Given the description of an element on the screen output the (x, y) to click on. 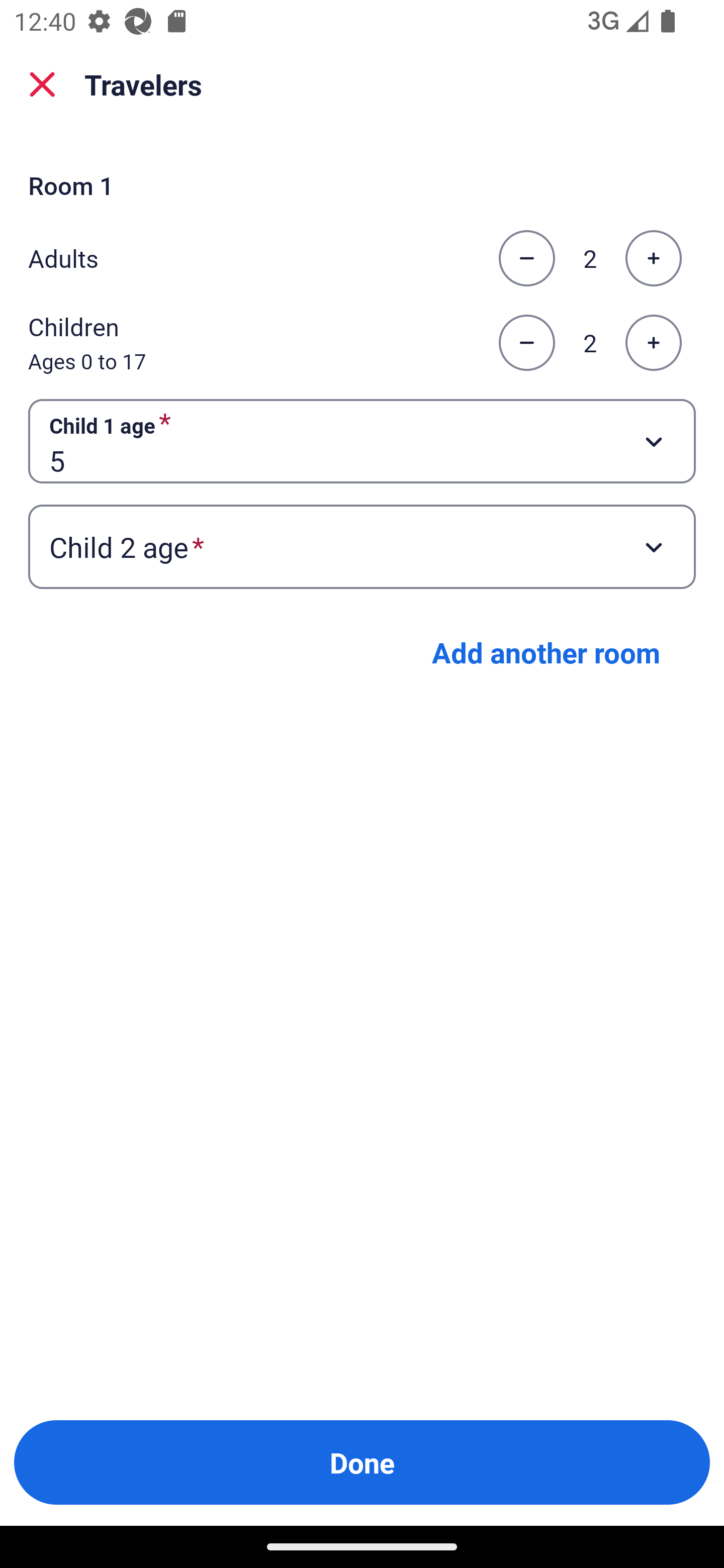
close (42, 84)
Decrease the number of adults (526, 258)
Increase the number of adults (653, 258)
Decrease the number of children (526, 343)
Increase the number of children (653, 343)
Child 1 age required Button 5 (361, 440)
Child 2 age required Button (361, 546)
Add another room (545, 651)
Done (361, 1462)
